Given the description of an element on the screen output the (x, y) to click on. 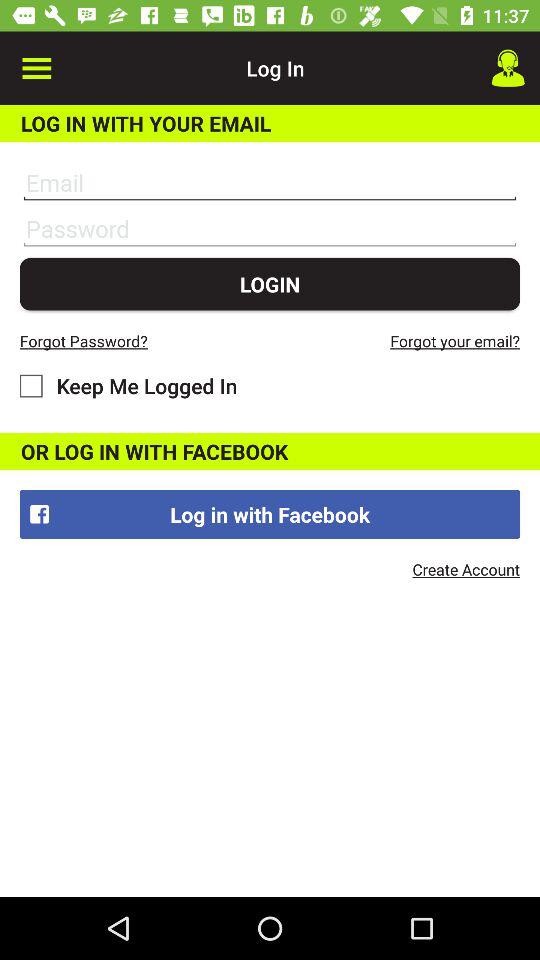
turn on icon below log in with item (466, 569)
